Given the description of an element on the screen output the (x, y) to click on. 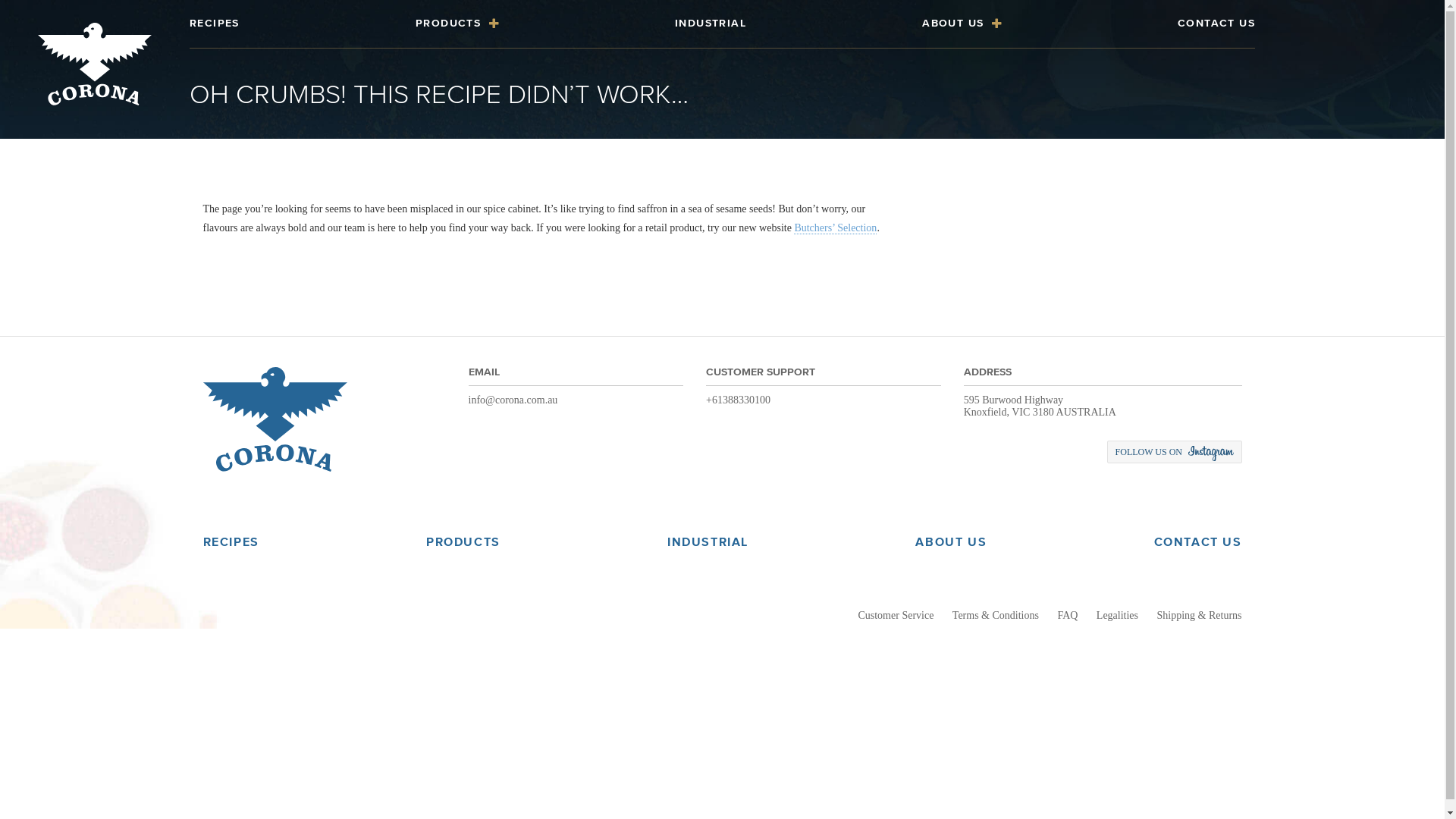
FAQ Element type: text (1067, 615)
+61388330100 Element type: text (738, 399)
Terms & Conditions Element type: text (995, 615)
RECIPES Element type: text (231, 541)
Customer Service Element type: text (895, 615)
INDUSTRIAL Element type: text (707, 541)
595 Burwood Highway
Knoxfield, VIC 3180 AUSTRALIA Element type: text (1039, 405)
CONTACT US Element type: text (1198, 541)
Corona Element type: hover (94, 63)
Legalities Element type: text (1117, 615)
ABOUT US Element type: text (950, 541)
FOLLOW US ON Element type: text (1174, 451)
info@corona.com.au Element type: text (513, 399)
Shipping & Returns Element type: text (1198, 615)
Corona Element type: hover (275, 419)
PRODUCTS Element type: text (463, 541)
